Given the description of an element on the screen output the (x, y) to click on. 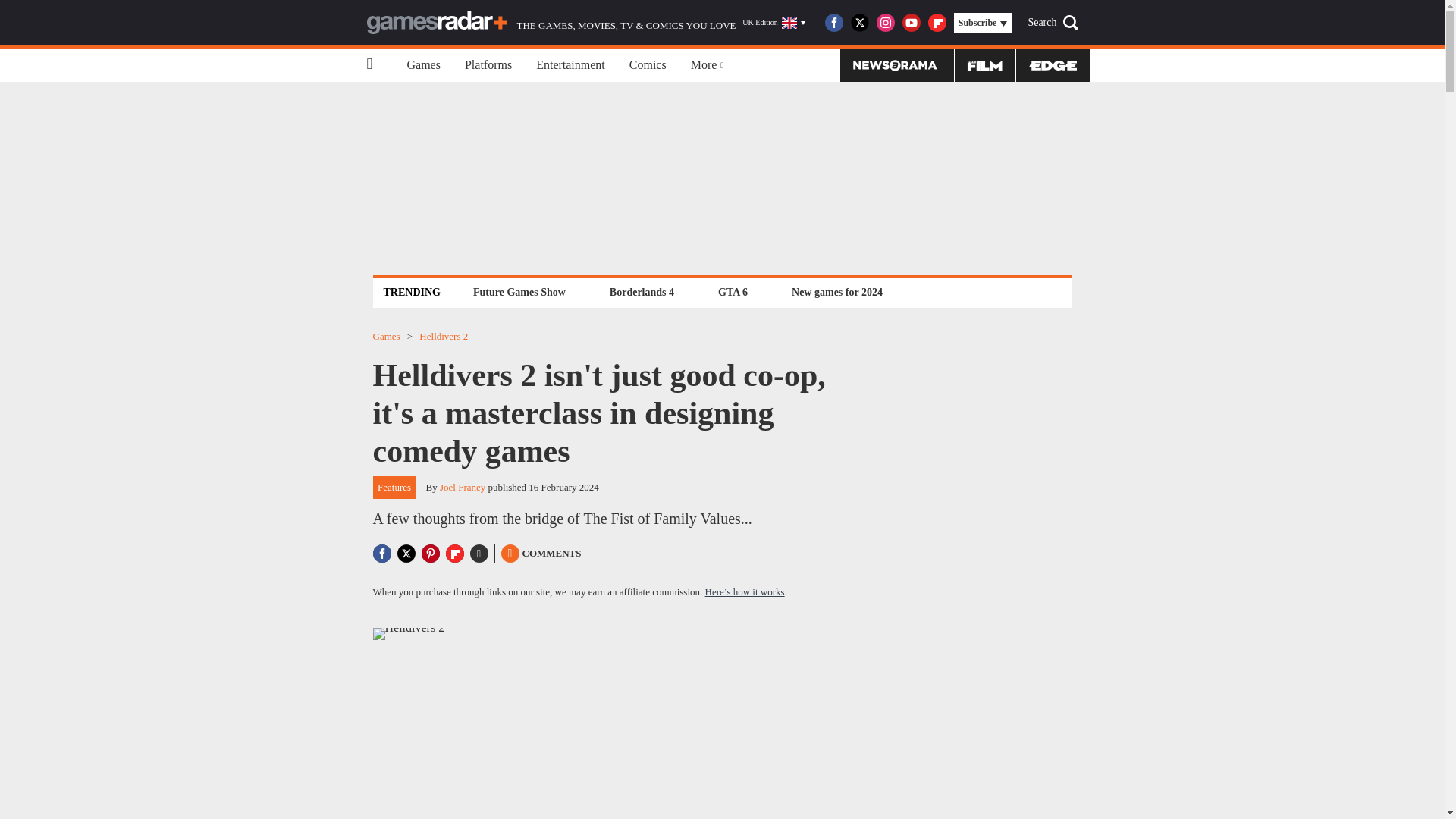
UK Edition (773, 22)
Entertainment (570, 64)
GTA 6 (732, 292)
Borderlands 4 (641, 292)
Comics (647, 64)
Future Games Show (518, 292)
Games (422, 64)
Platforms (488, 64)
New games for 2024 (837, 292)
